Given the description of an element on the screen output the (x, y) to click on. 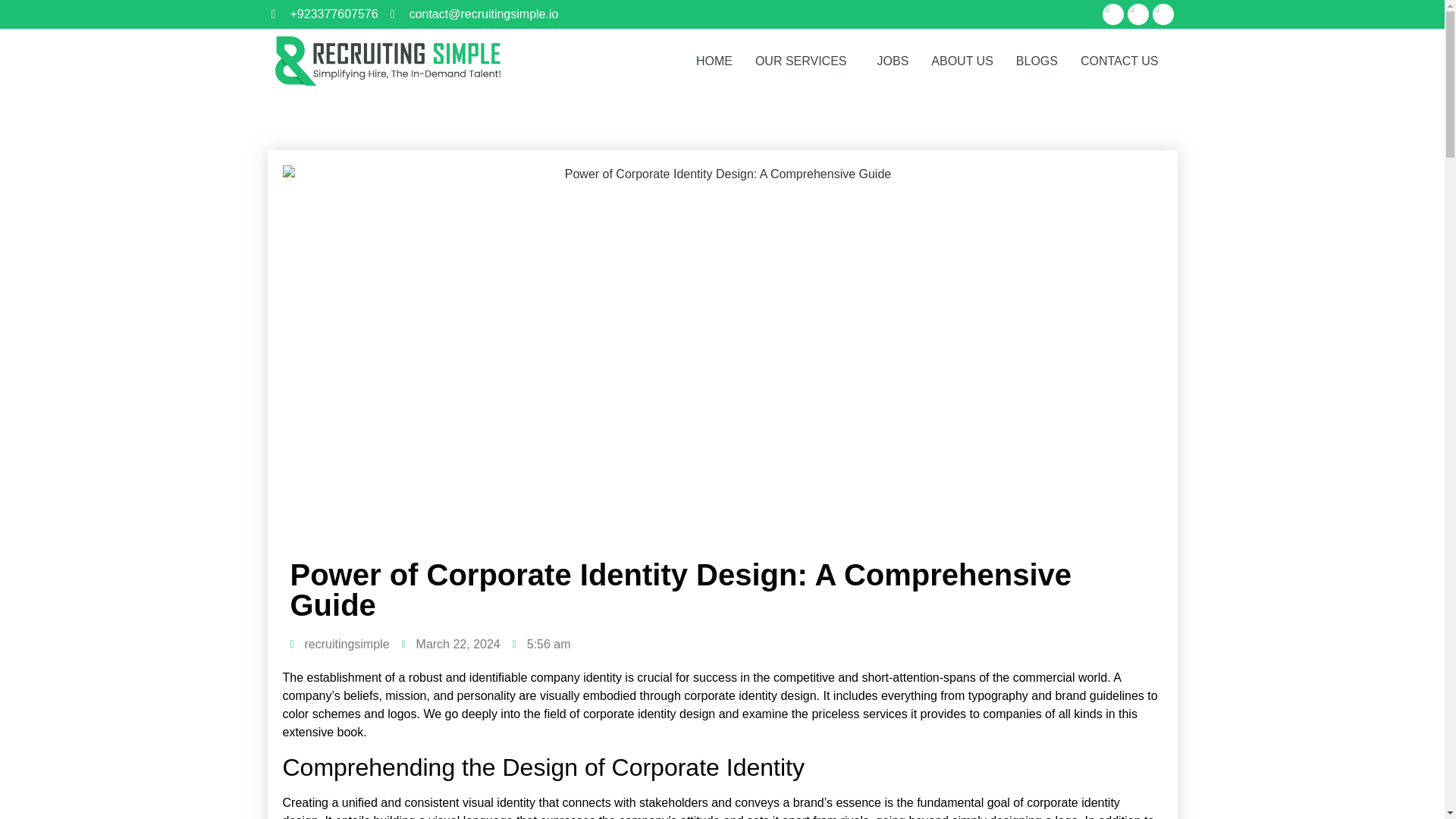
ABOUT US (962, 61)
CONTACT US (1119, 61)
JOBS (893, 61)
recruitingsimple (338, 644)
HOME (714, 61)
March 22, 2024 (450, 644)
OUR SERVICES (805, 61)
BLOGS (1036, 61)
